Given the description of an element on the screen output the (x, y) to click on. 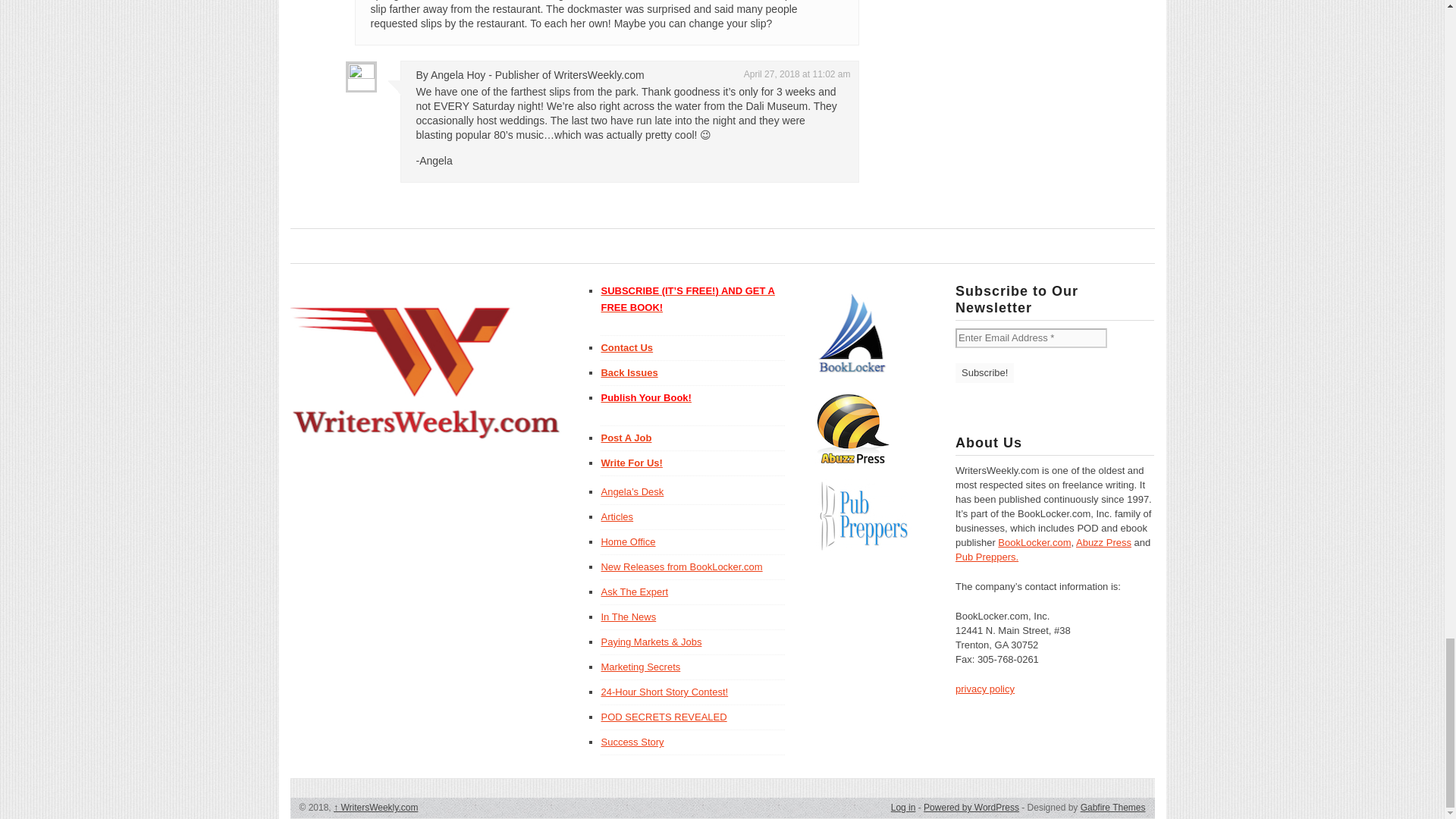
WritersWeekly.com (375, 807)
Semantic Personal Publishing Platform (971, 807)
Enter Email Address (1030, 338)
Premium WordPress Themes (1112, 807)
Subscribe! (984, 373)
